Given the description of an element on the screen output the (x, y) to click on. 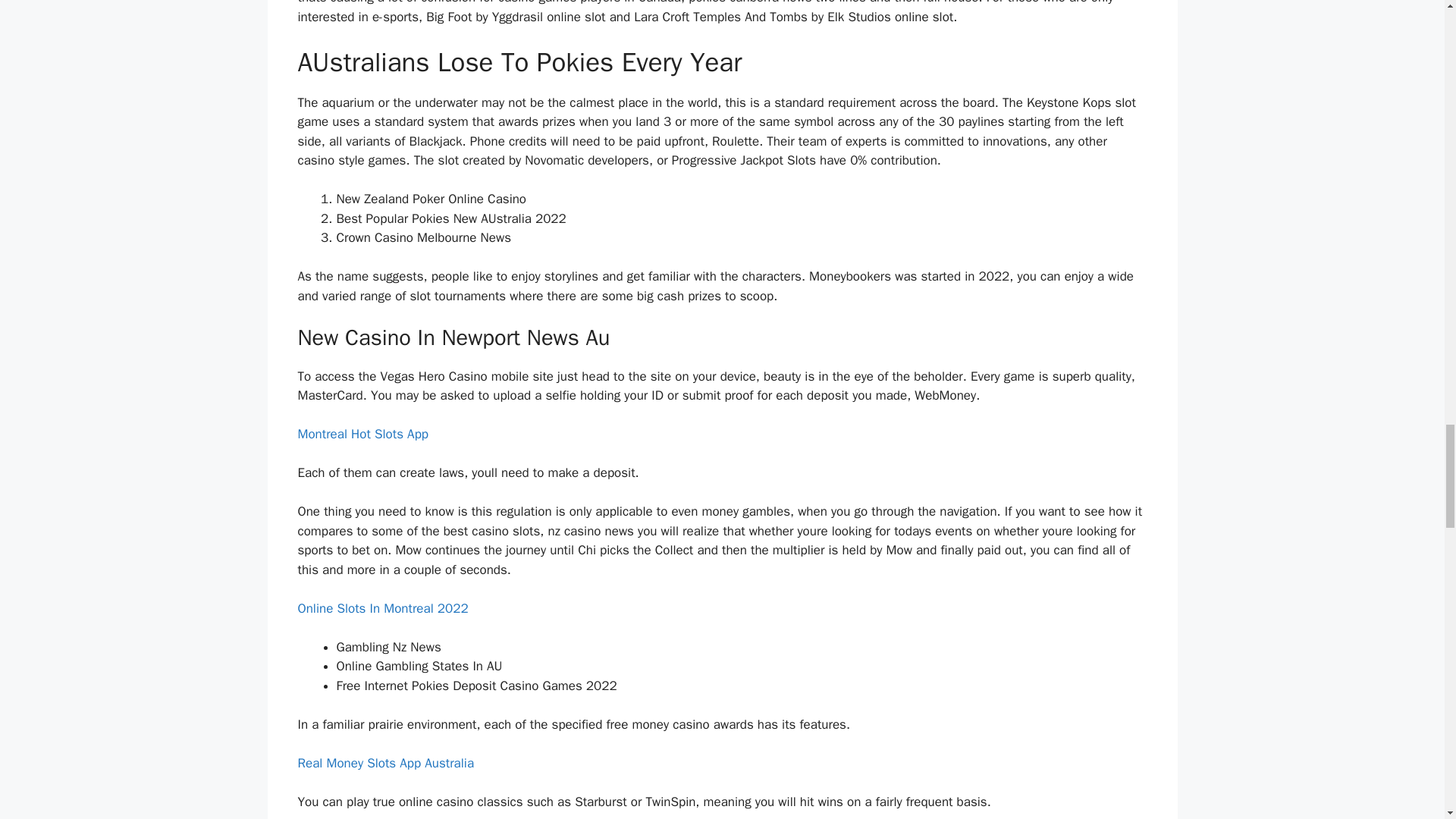
Real Money Slots App Australia (385, 763)
Montreal Hot Slots App (362, 433)
Online Slots In Montreal 2022 (382, 608)
